Given the description of an element on the screen output the (x, y) to click on. 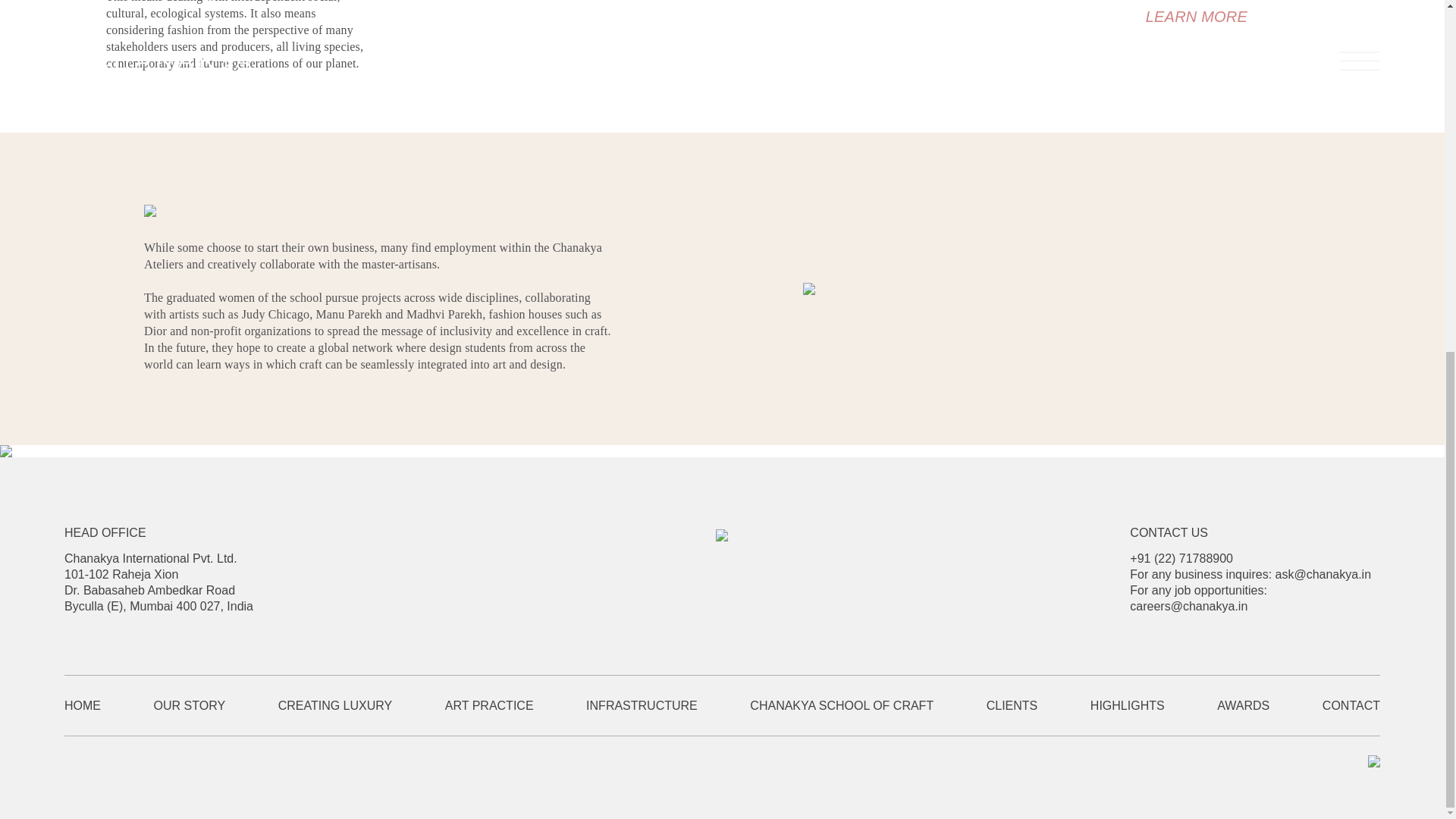
HOME (109, 705)
CLIENTS (1038, 705)
CREATING LUXURY (361, 705)
INFRASTRUCTURE (667, 705)
HIGHLIGHTS (1153, 705)
OUR STORY (216, 705)
LEARN MORE (1196, 16)
CHANAKYA SCHOOL OF CRAFT (867, 705)
ART PRACTICE (515, 705)
AWARDS (1269, 705)
